Given the description of an element on the screen output the (x, y) to click on. 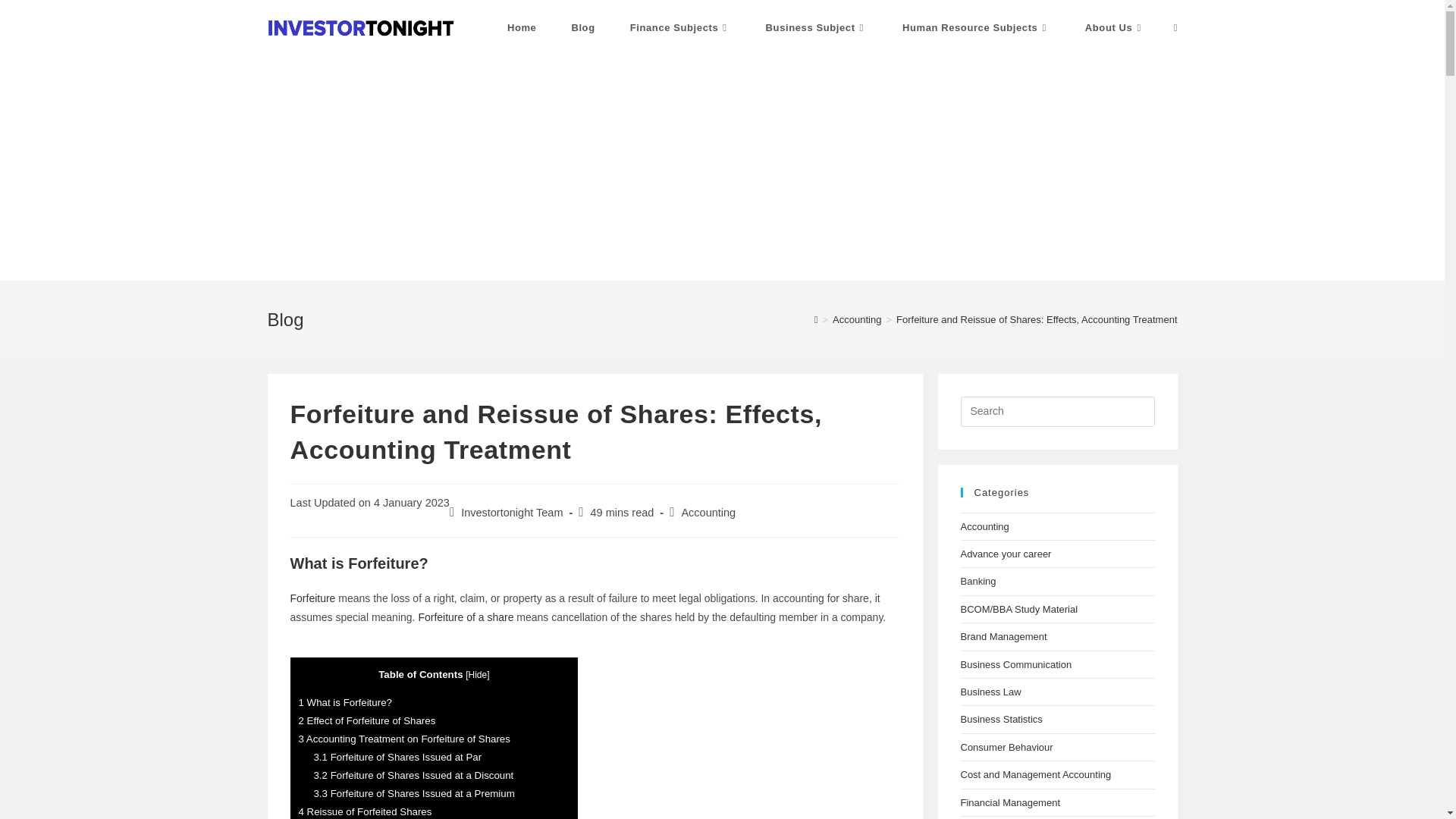
Business Subject (816, 28)
Blog (582, 28)
Human Resource Subjects (976, 28)
Home (521, 28)
About Us (1114, 28)
Posts by Investortonight Team (511, 512)
Finance Subjects (680, 28)
